Given the description of an element on the screen output the (x, y) to click on. 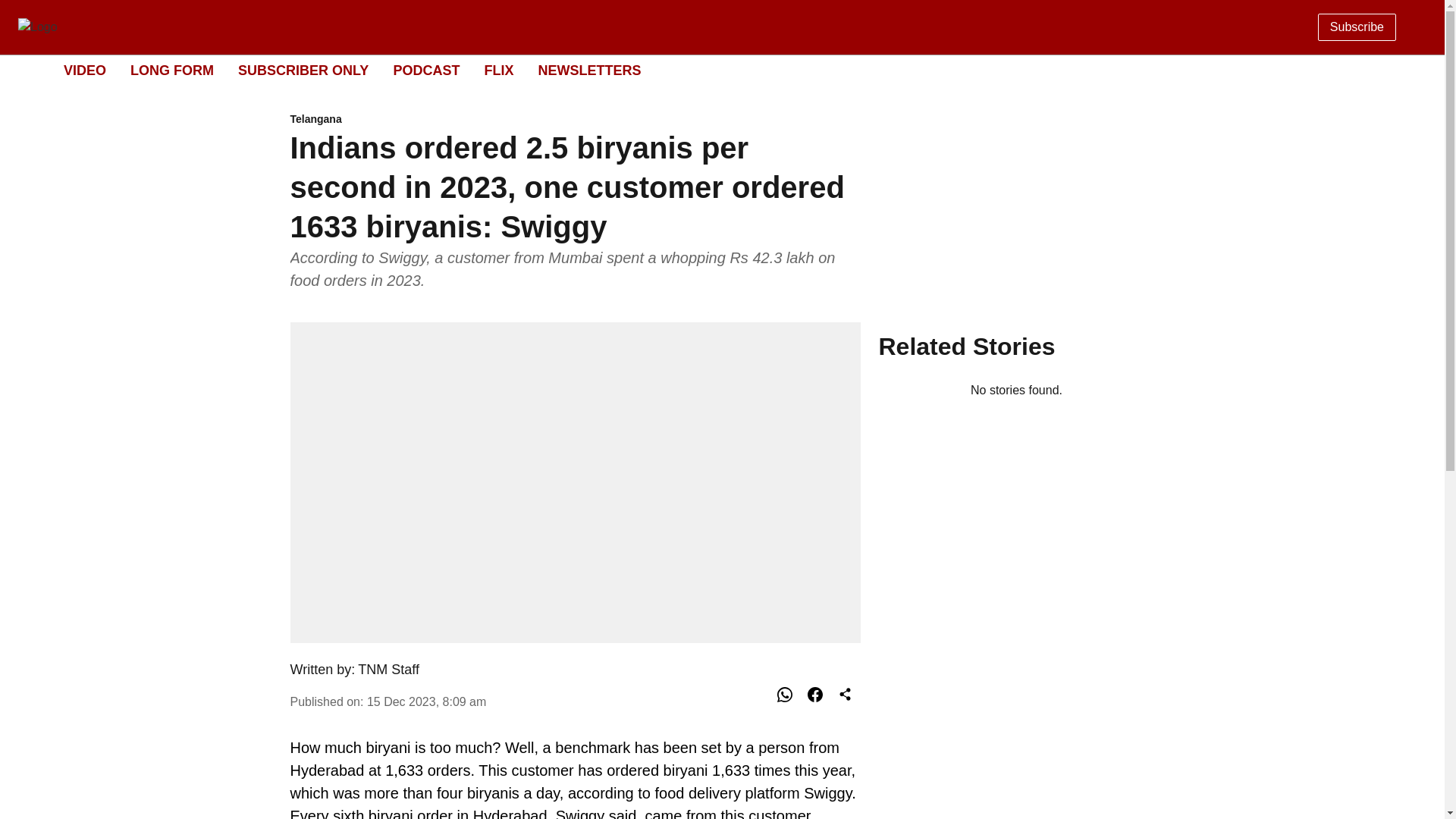
TNM Staff (388, 669)
LONG FORM (172, 70)
FLIX (498, 70)
Telangana (707, 70)
NEWSLETTERS (574, 119)
PODCAST (588, 70)
2023-12-15 08:09 (426, 70)
VIDEO (426, 700)
SUBSCRIBER ONLY (85, 70)
